Given the description of an element on the screen output the (x, y) to click on. 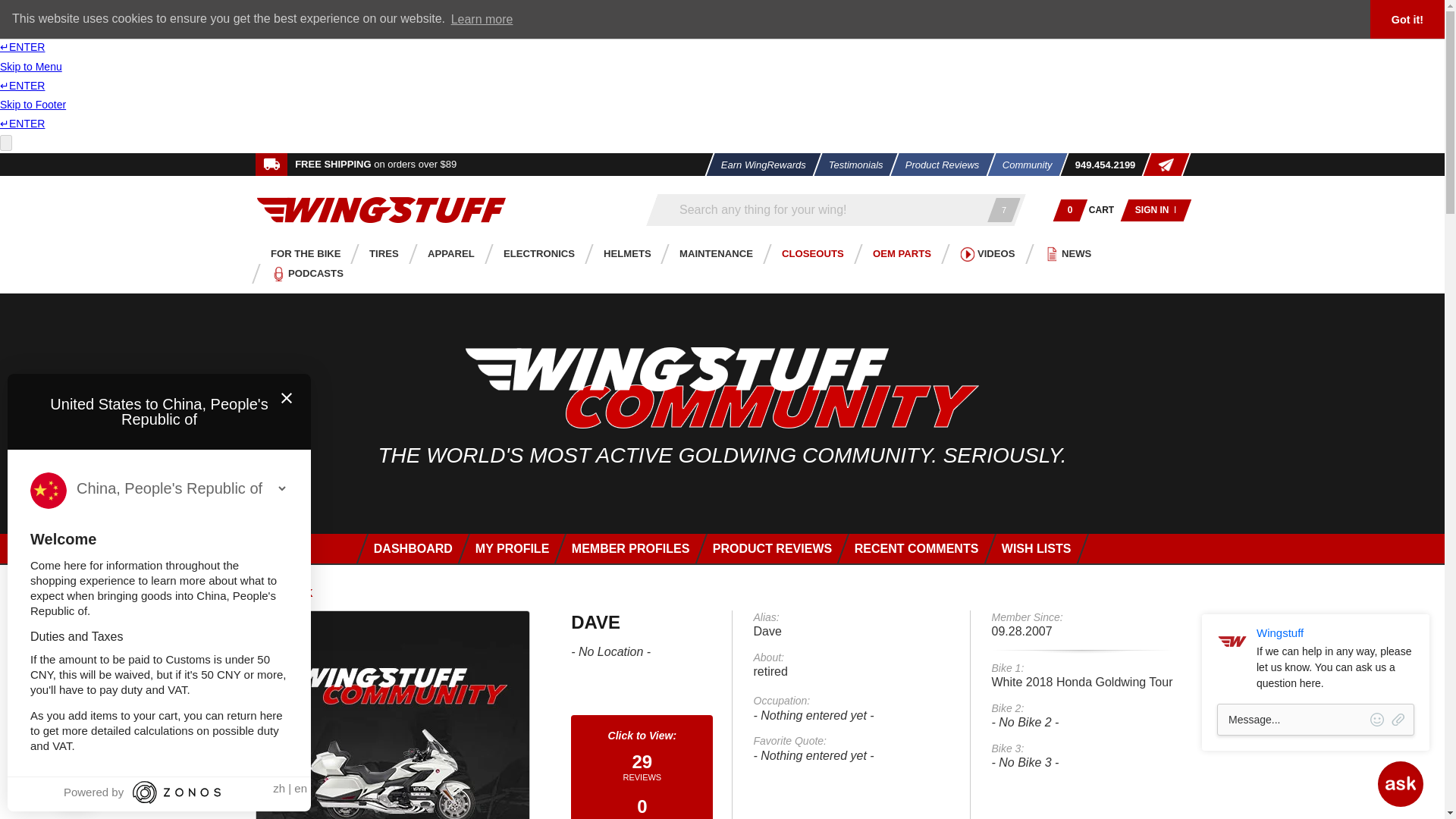
FOR THE BIKE (300, 253)
Open Zonos Hello (180, 787)
Earn WingRewards (758, 164)
Testimonials (850, 164)
CART (1101, 210)
Learn more (481, 18)
Select your country (181, 488)
Community (1021, 164)
949.454.2199 (1099, 164)
WingStuff (380, 209)
Product Reviews (938, 164)
